Given the description of an element on the screen output the (x, y) to click on. 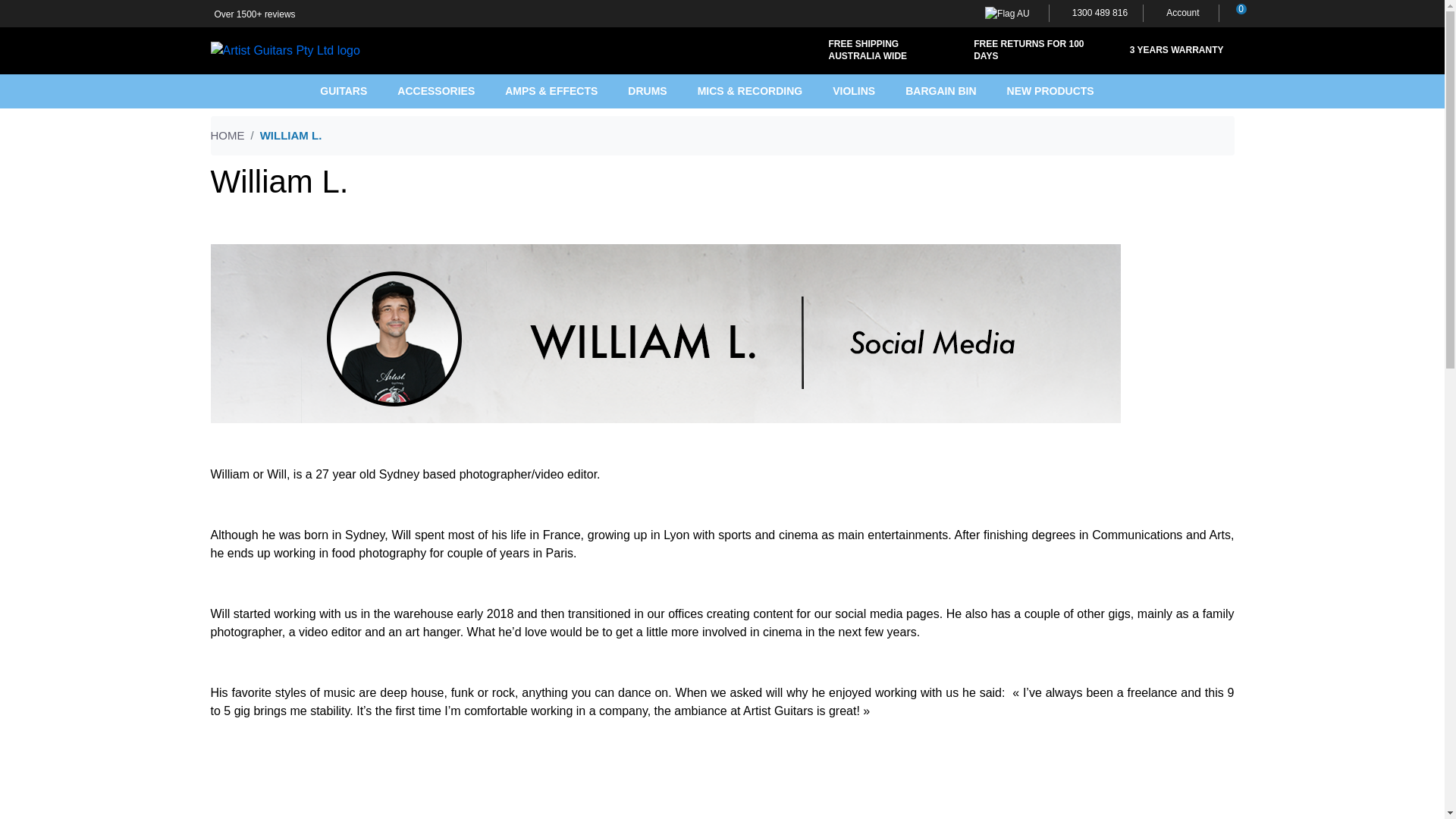
Artist Guitars Pty Ltd (285, 50)
FREE SHIPPING AUSTRALIA WIDE (882, 50)
3 YEARS WARRANTY (1173, 50)
1300 489 816 (1095, 12)
GUITARS (358, 91)
FREE RETURNS FOR 100 DAYS (1027, 50)
Account (1180, 12)
